Given the description of an element on the screen output the (x, y) to click on. 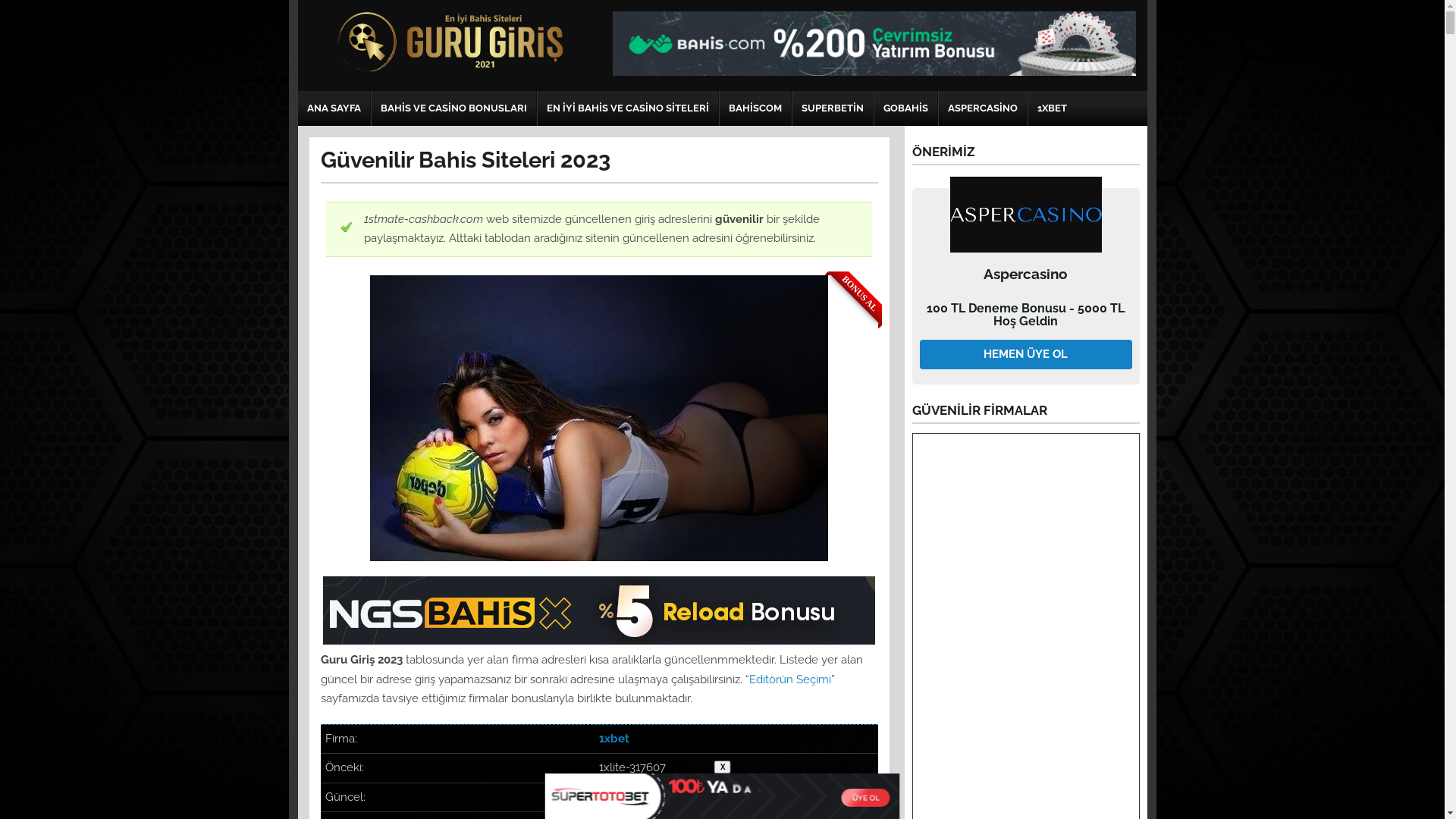
SUPERBETIN Element type: text (831, 108)
X Element type: text (722, 766)
BAHIS VE CASINO BONUSLARI Element type: text (453, 108)
GOBAHIS Element type: text (904, 108)
BONUS AL Element type: text (598, 418)
1xlite-031453 Element type: text (634, 796)
1xbet Element type: text (614, 738)
1xlite-317607 Element type: text (632, 767)
ASPERCASINO Element type: text (982, 108)
ANA SAYFA Element type: text (333, 108)
1XBET Element type: text (1052, 108)
BAHISCOM Element type: text (754, 108)
